Given the description of an element on the screen output the (x, y) to click on. 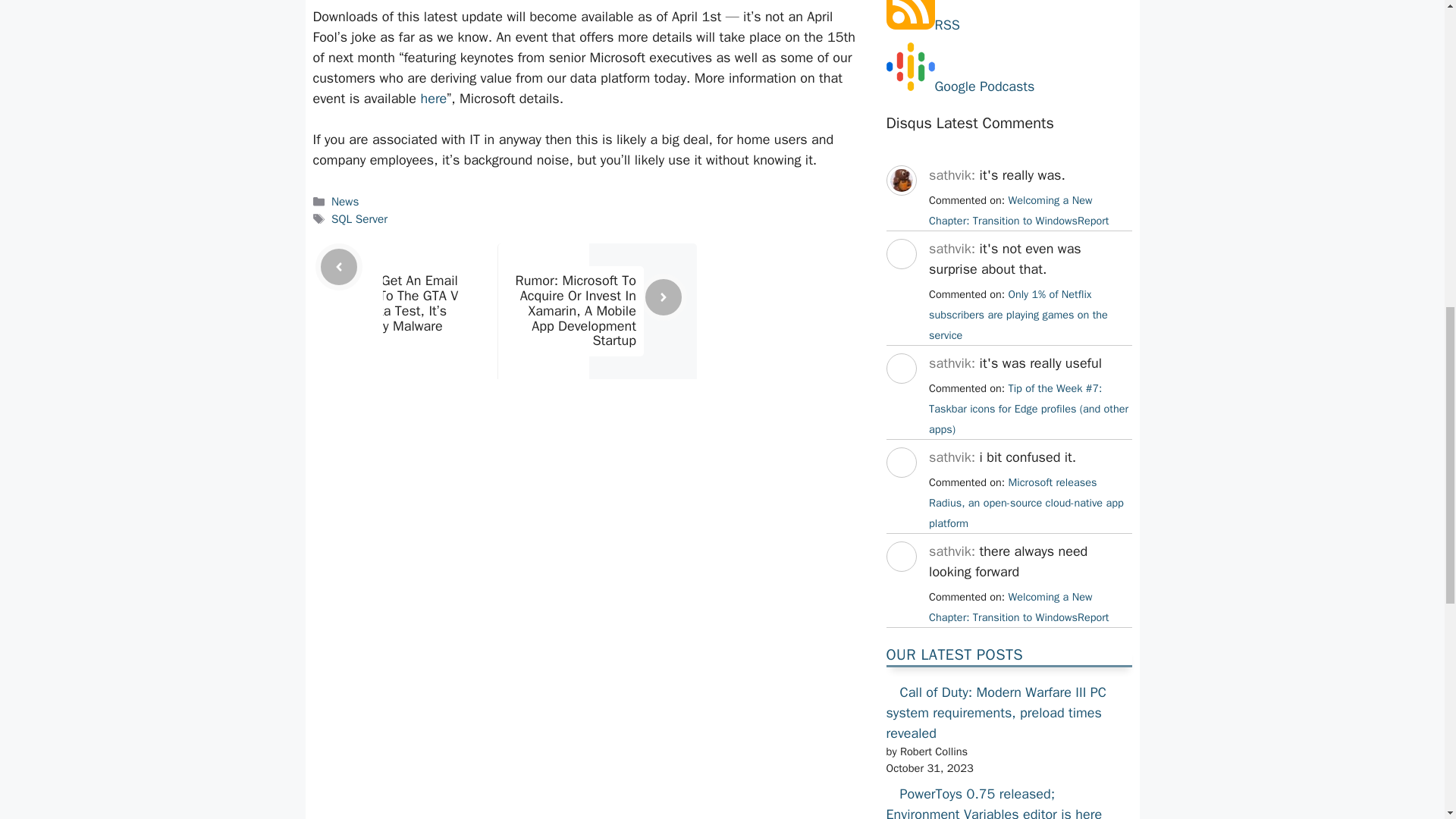
sathvik (900, 585)
June 15, 2024 (1026, 502)
July 8, 2024 (1028, 408)
July 24, 2024 (1018, 210)
sathvik (900, 208)
May 20, 2024 (1018, 606)
July 11, 2024 (1018, 314)
sathvik (900, 491)
sathvik (900, 397)
sathvik (900, 282)
